Given the description of an element on the screen output the (x, y) to click on. 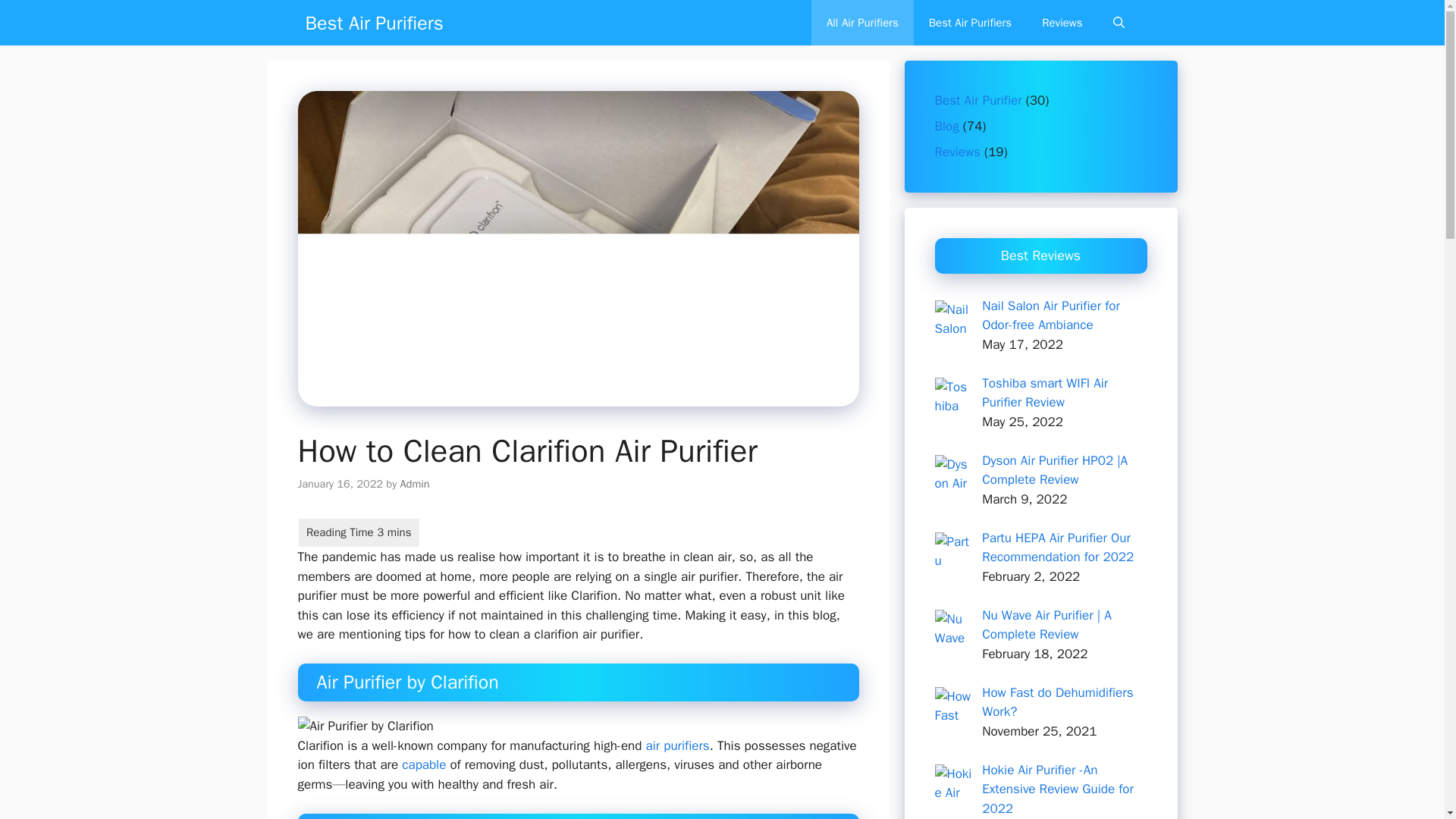
View all posts by Admin (414, 483)
Toshiba smart WIFI Air Purifier Review (1044, 392)
Blog (946, 125)
Hokie Air Purifier -An Extensive Review Guide for 2022 (1057, 788)
Reviews (956, 151)
How Fast do Dehumidifiers Work? (1056, 701)
capable (423, 764)
Best Air Purifier (978, 100)
All Air Purifiers (862, 22)
Nail Salon Air Purifier for Odor-free Ambiance (1050, 314)
Reviews (1061, 22)
Best Air Purifiers (970, 22)
air purifiers (678, 745)
Best Air Purifiers (373, 22)
Admin (414, 483)
